Given the description of an element on the screen output the (x, y) to click on. 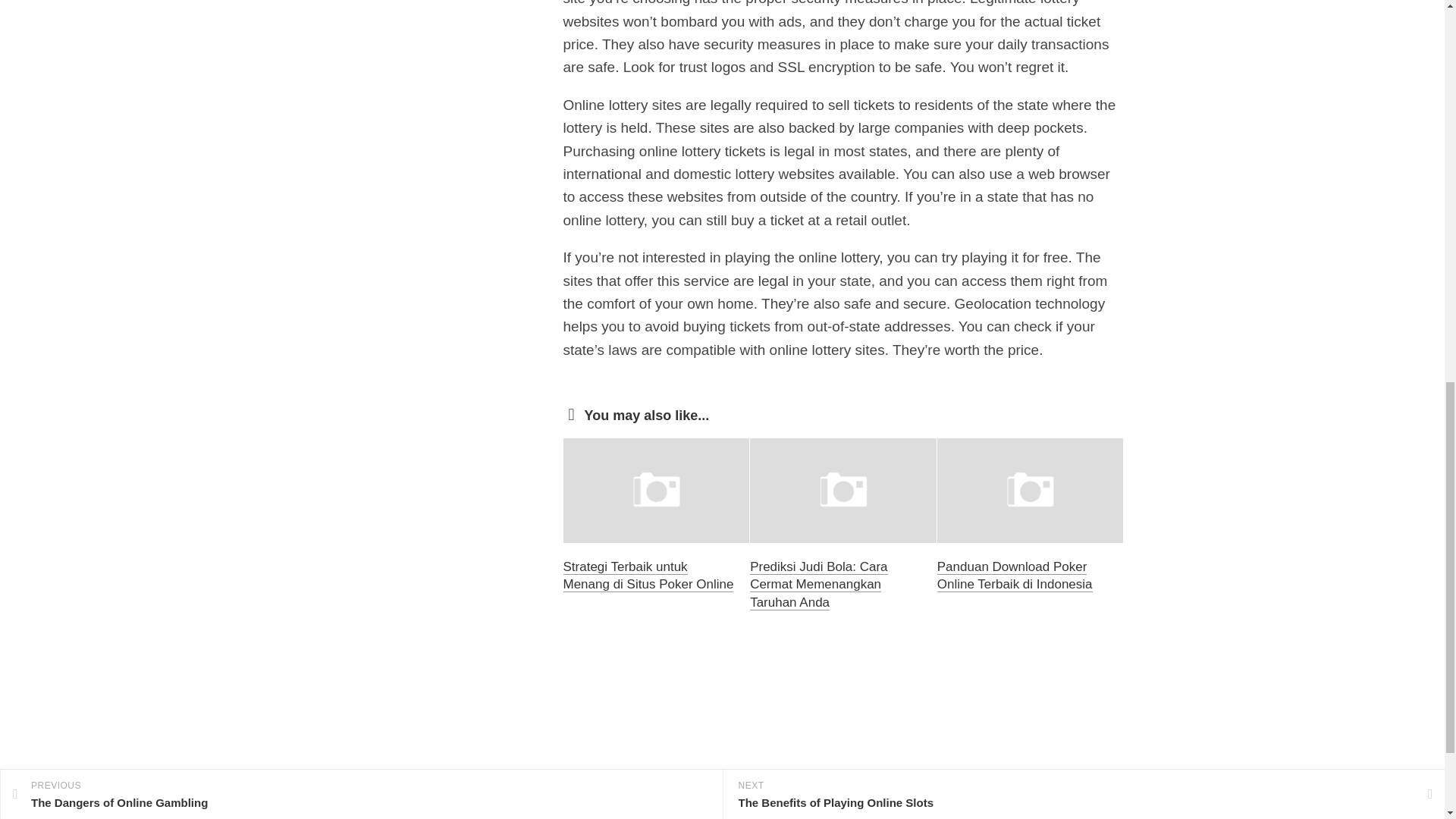
Strategi Terbaik untuk Menang di Situs Poker Online (647, 575)
Panduan Download Poker Online Terbaik di Indonesia (1015, 575)
Prediksi Judi Bola: Cara Cermat Memenangkan Taruhan Anda (817, 584)
